Given the description of an element on the screen output the (x, y) to click on. 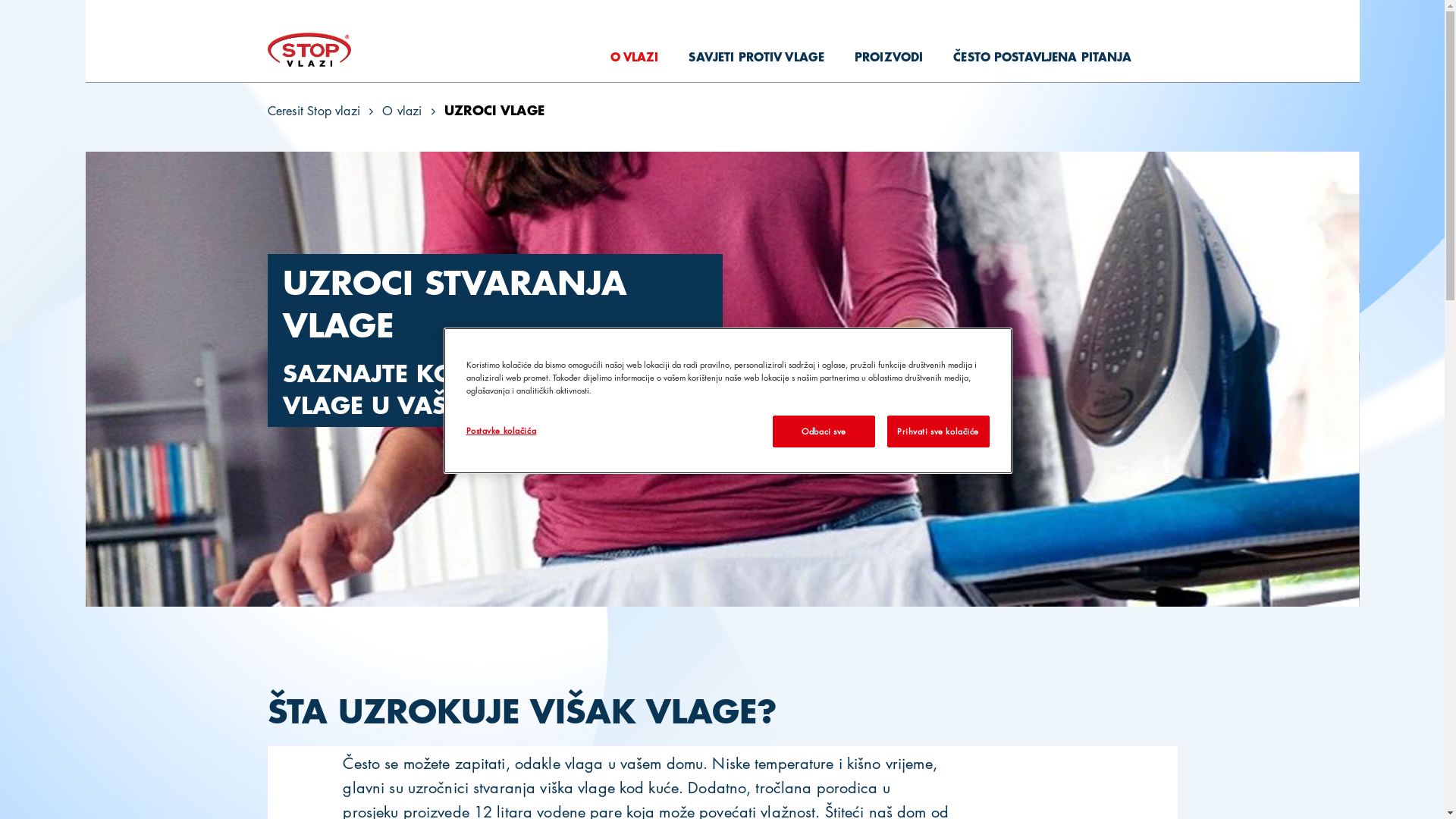
Odbaci sve Element type: text (823, 431)
Ceresit Stop vlazi Element type: text (313, 110)
SAVJETI PROTIV VLAGE Element type: text (756, 56)
O VLAZI Element type: text (634, 56)
O vlazi Element type: text (401, 110)
PROIZVODI Element type: text (888, 56)
